Given the description of an element on the screen output the (x, y) to click on. 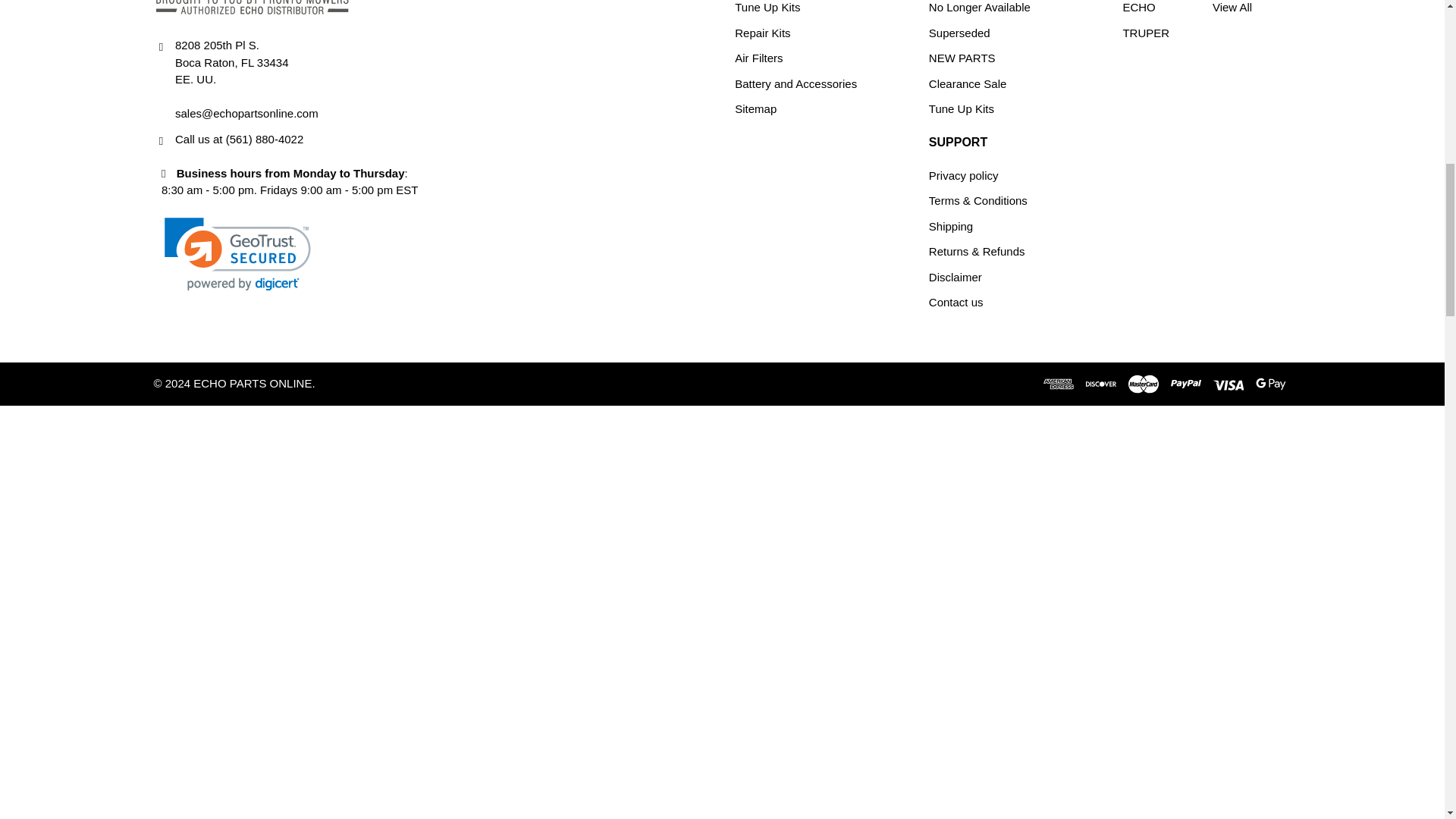
ECHO PARTS ONLINE (251, 8)
